Given the description of an element on the screen output the (x, y) to click on. 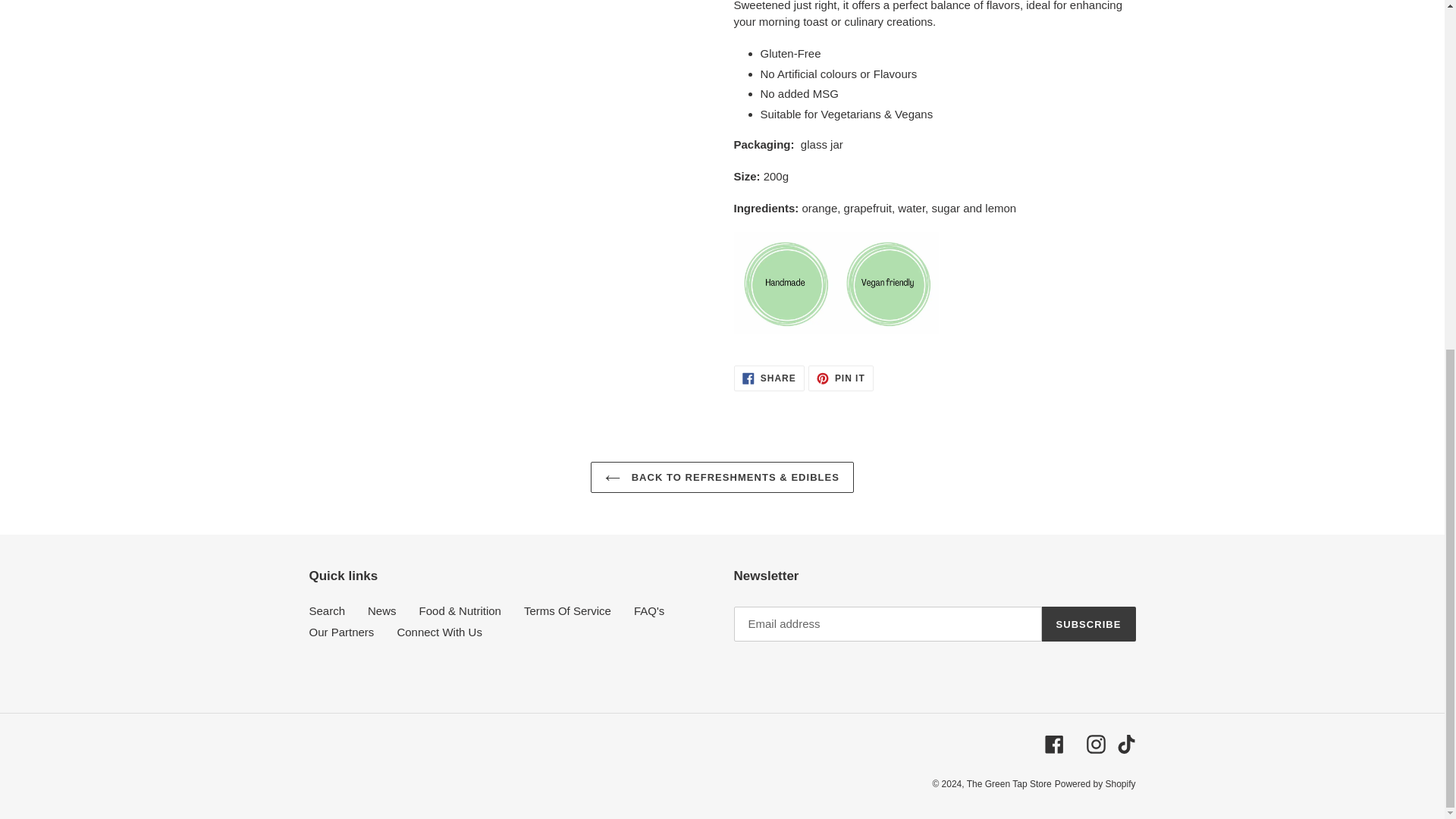
FAQ's (840, 378)
Search (648, 610)
SUBSCRIBE (327, 610)
Facebook (1088, 623)
Instagram (1054, 743)
Our Partners (769, 378)
News (1095, 743)
Connect With Us (341, 631)
Terms Of Service (382, 610)
